Given the description of an element on the screen output the (x, y) to click on. 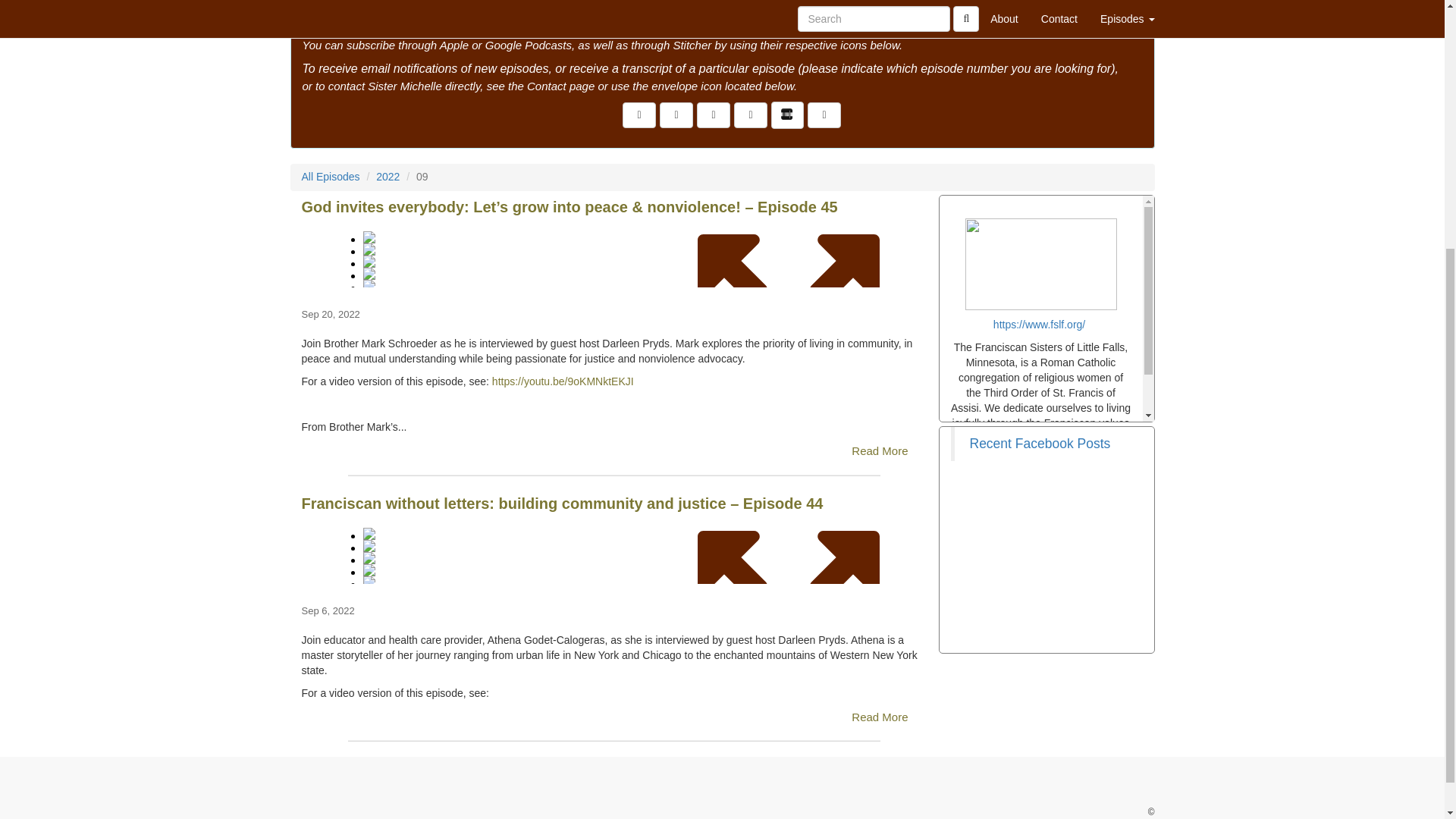
Email This Podcast (676, 114)
Visit Us on Facebook (639, 114)
Subscribe to RSS Feed (713, 114)
Listen on Apple Podcasts (750, 114)
Listen on Stitcher (787, 114)
Listen on Spotify (824, 114)
